Given the description of an element on the screen output the (x, y) to click on. 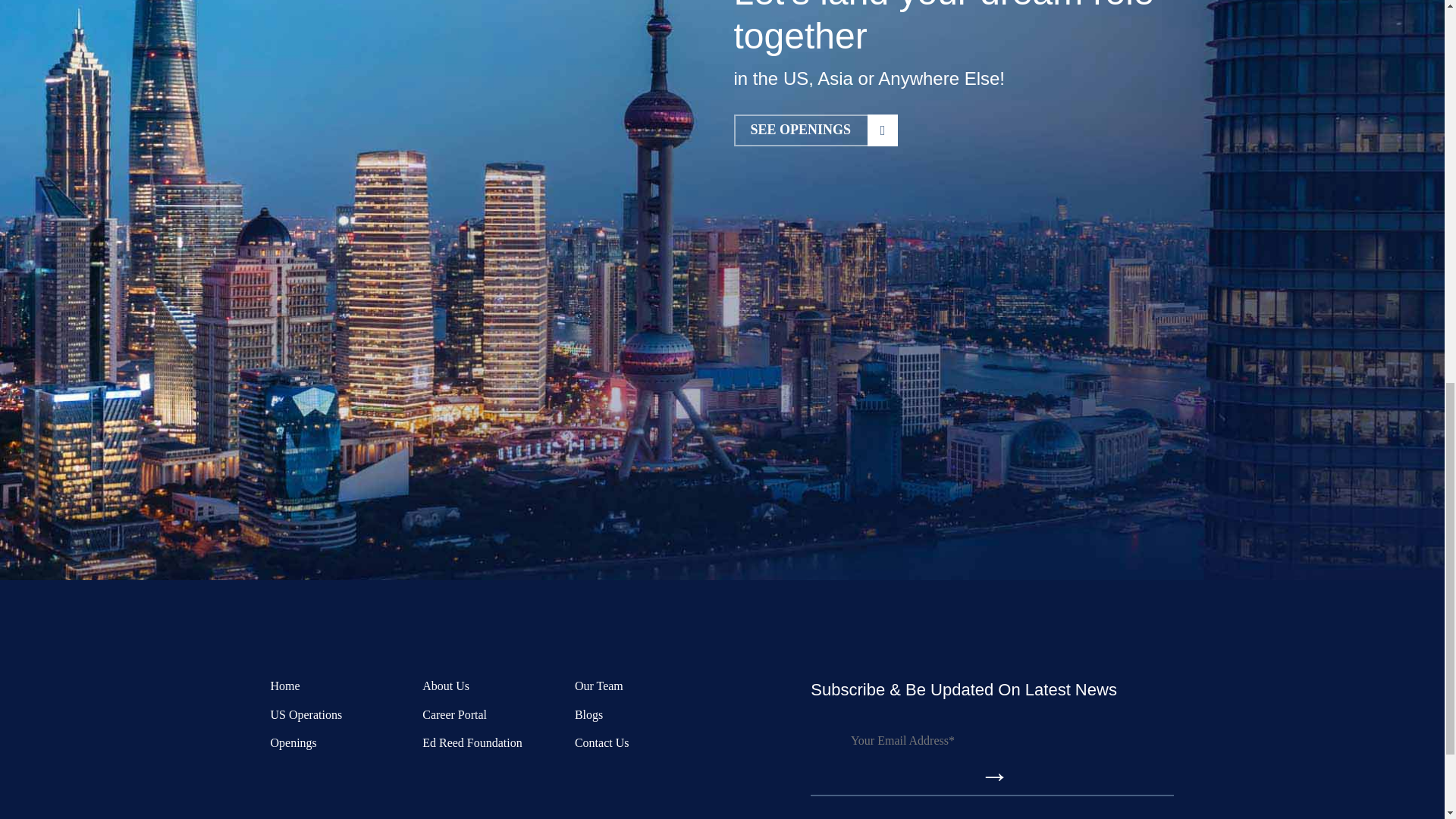
Career Portal (815, 130)
